Given the description of an element on the screen output the (x, y) to click on. 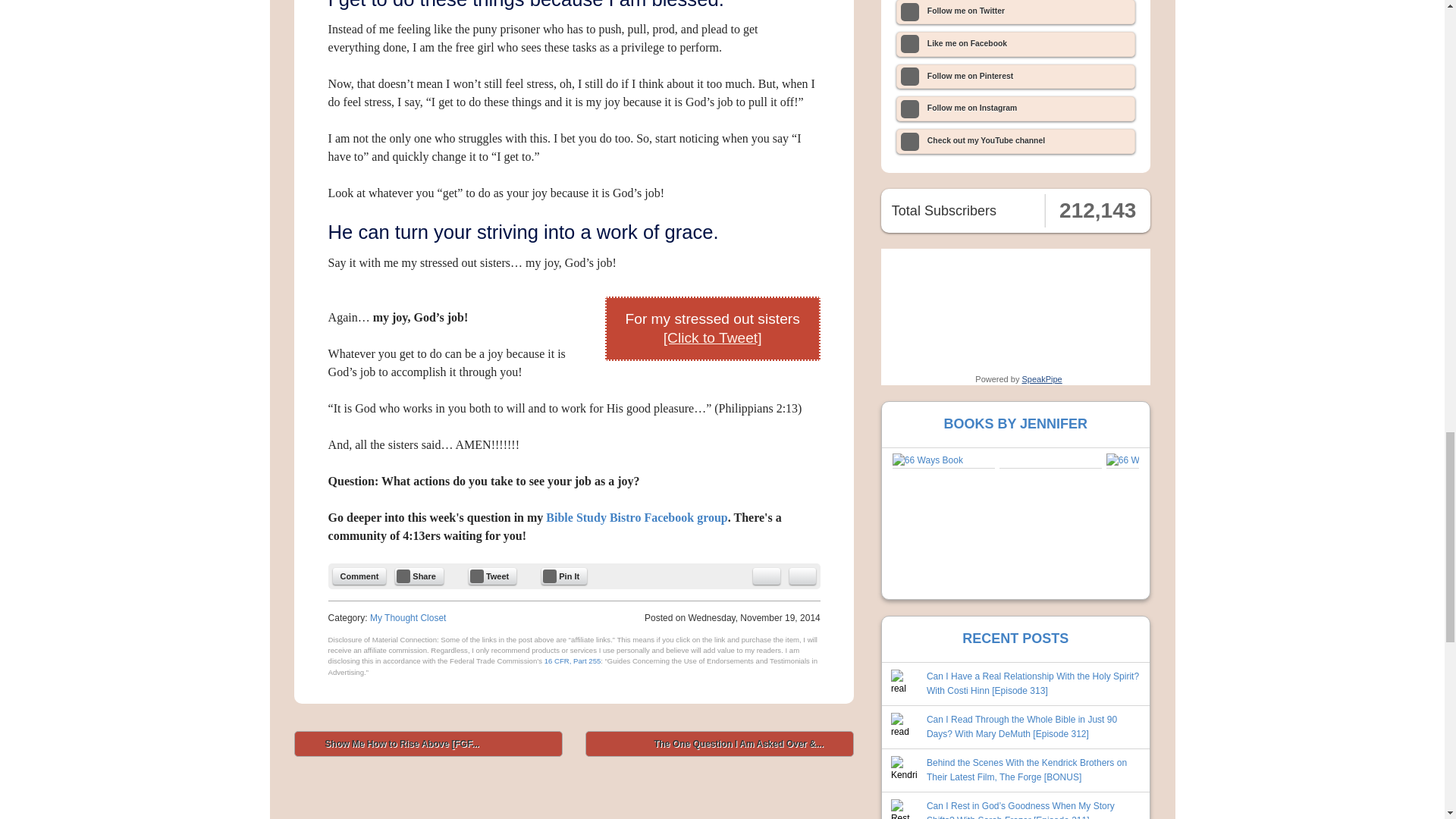
Comment on this Post (360, 576)
My Thought Closet (407, 617)
Share on Facebook (419, 576)
Share (419, 576)
Tweet (492, 576)
print (802, 576)
Tweet this Post (492, 576)
Bible Study Bistro Facebook group (636, 517)
Comment (360, 576)
Pin It (563, 576)
